Given the description of an element on the screen output the (x, y) to click on. 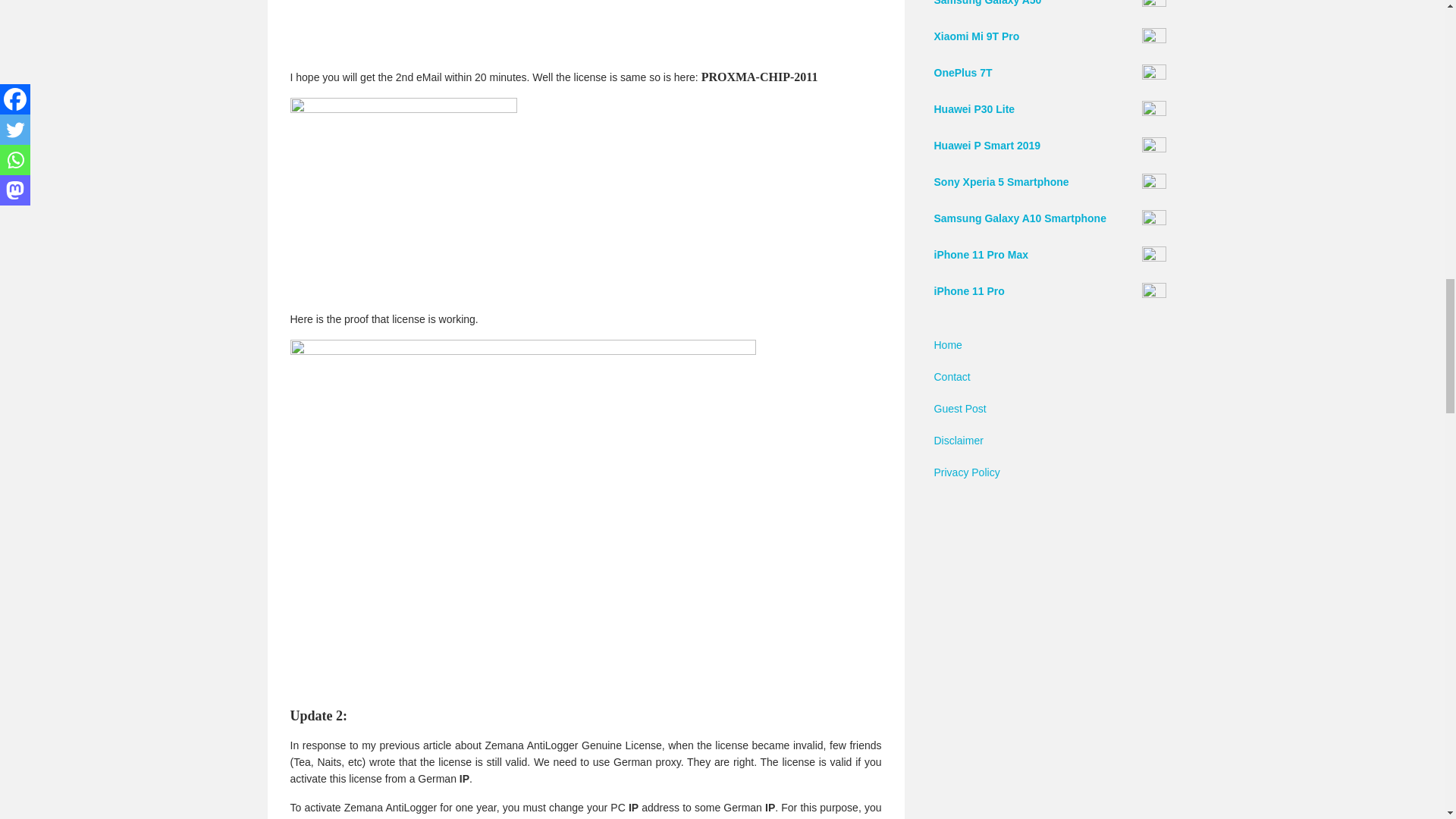
watermarked-Zemana AntiLogger eMail 1 Chip (527, 28)
watermarked-Zemana AntiLogger eMail 2 Chip (402, 197)
